Given the description of an element on the screen output the (x, y) to click on. 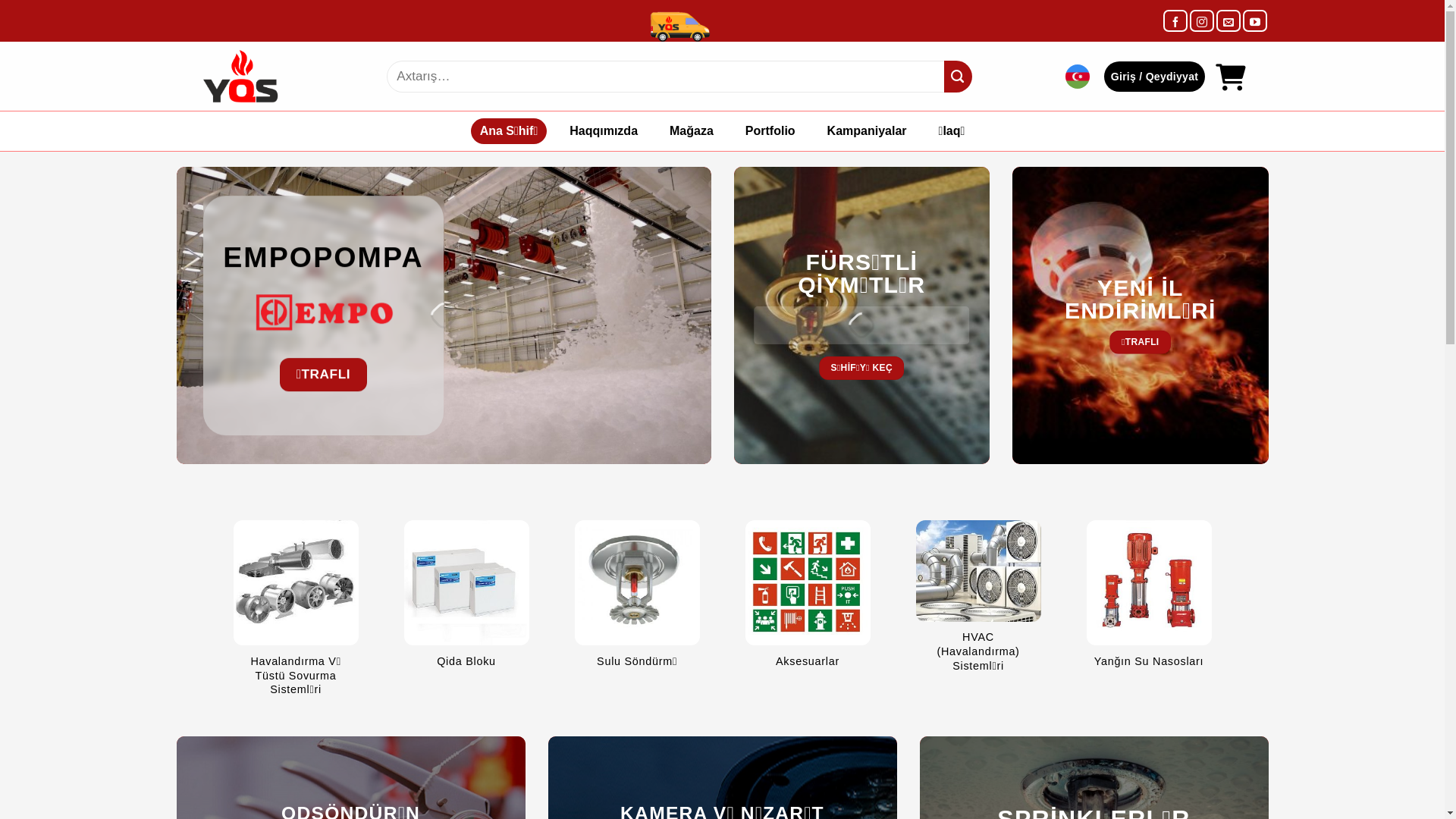
Qida Bloku Element type: text (465, 602)
Aksesuarlar Element type: text (806, 602)
Follow on Facebook Element type: hover (1175, 20)
Follow on Instagram Element type: hover (1201, 20)
Portfolio Element type: text (770, 131)
Search Element type: text (957, 76)
Kampaniyalar Element type: text (867, 131)
Send us an email Element type: hover (1228, 20)
Skip to content Element type: text (0, 0)
Cart Element type: hover (1230, 76)
Follow on YouTube Element type: hover (1254, 20)
